Given the description of an element on the screen output the (x, y) to click on. 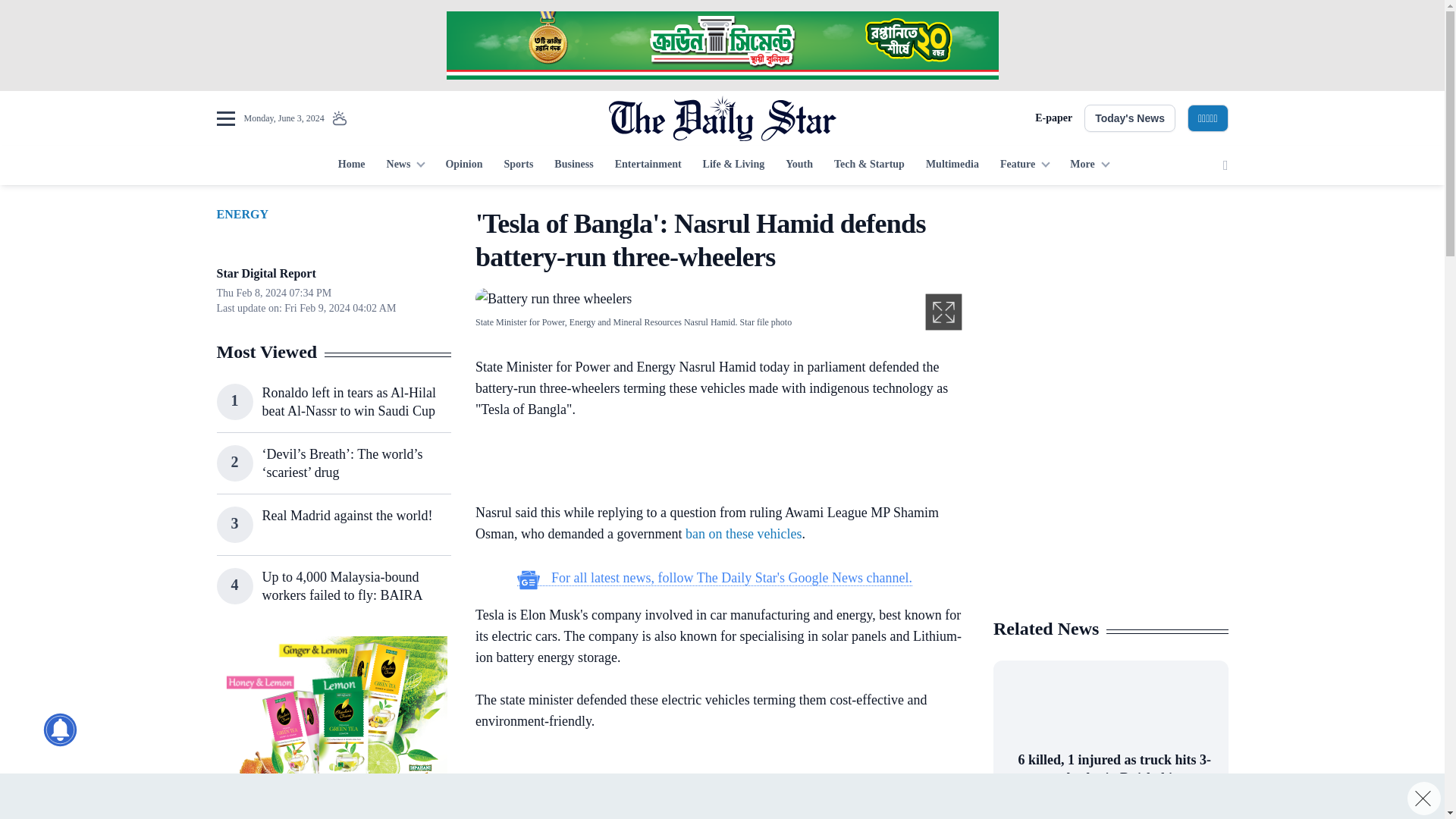
Opinion (463, 165)
Sports (518, 165)
3rd party ad content (714, 463)
3rd party ad content (332, 727)
3rd party ad content (1110, 506)
Feature (1024, 165)
Today's News (1129, 117)
Multimedia (952, 165)
3rd party ad content (713, 785)
Battery run three wheelers (553, 296)
